Given the description of an element on the screen output the (x, y) to click on. 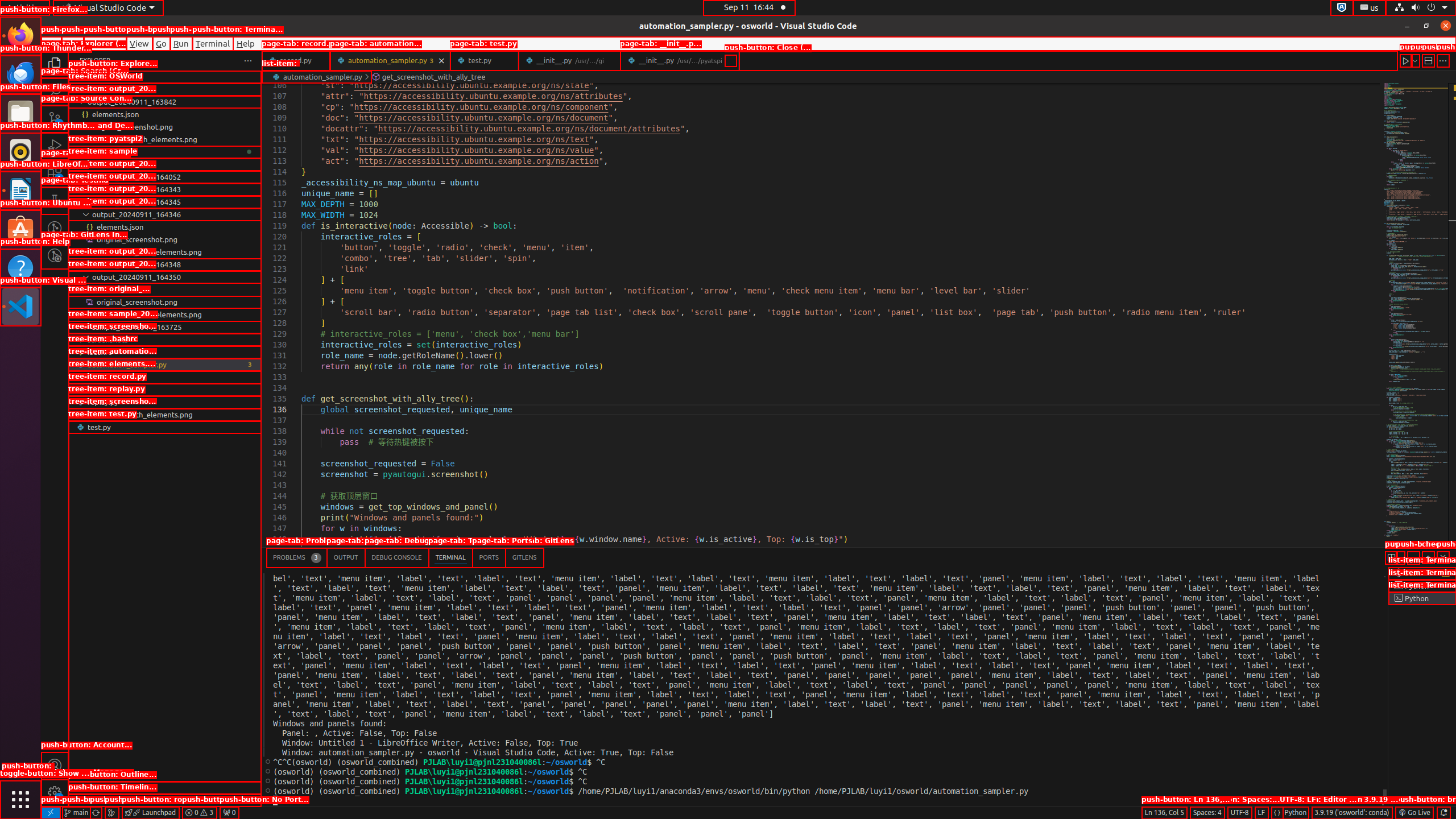
Launch Profile... Element type: push-button (1399, 557)
Testing Element type: page-tab (54, 200)
GitLens Inspect Element type: page-tab (54, 255)
Outline Section Element type: push-button (164, 787)
